Given the description of an element on the screen output the (x, y) to click on. 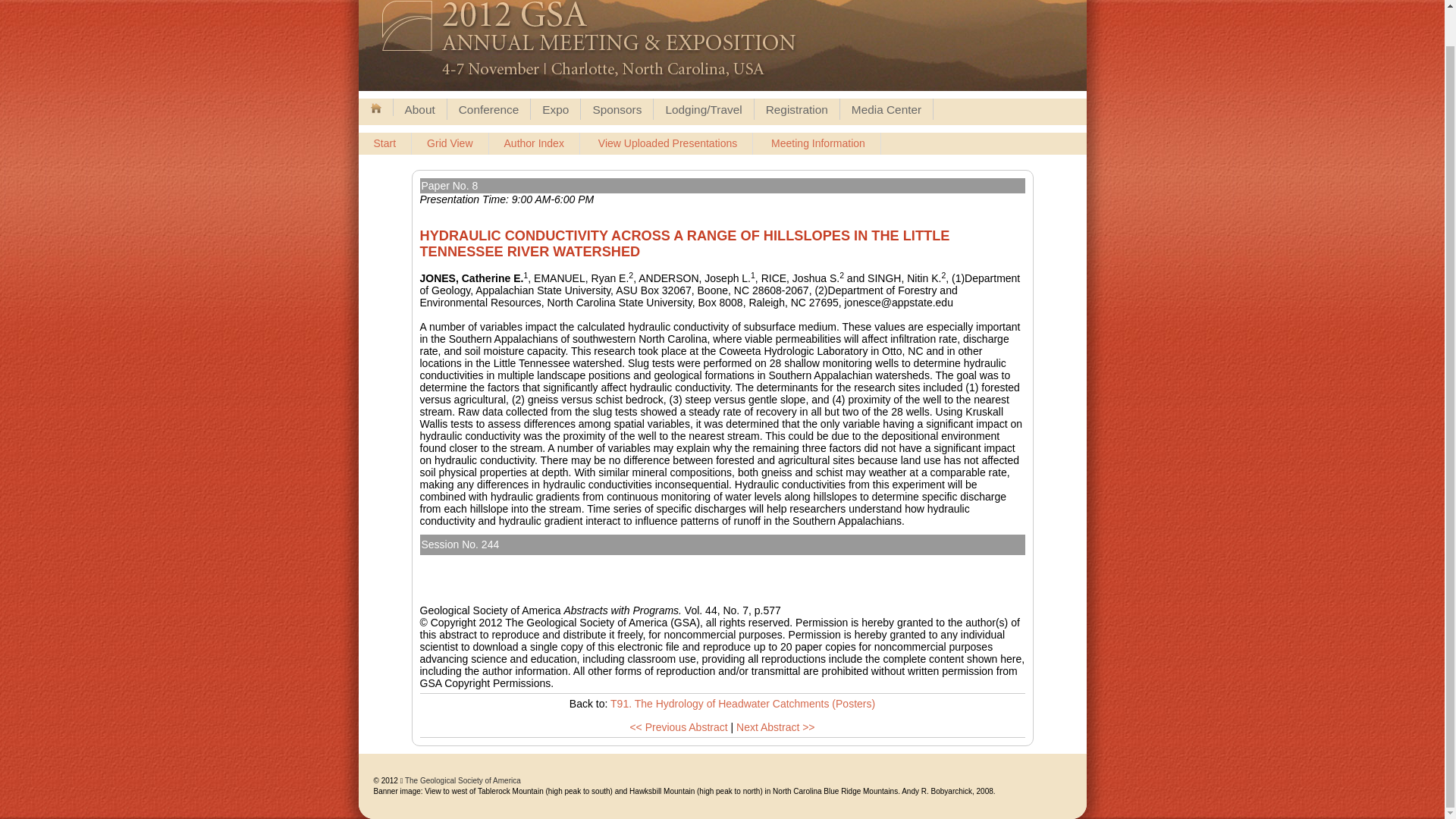
Sponsors (616, 108)
Author Index (534, 143)
Registration (797, 108)
View Uploaded Presentations (667, 143)
Conference (488, 108)
Media Center (886, 108)
Expo (555, 108)
Start (385, 143)
Meeting Information (817, 143)
The Geological Society of America (462, 780)
